Given the description of an element on the screen output the (x, y) to click on. 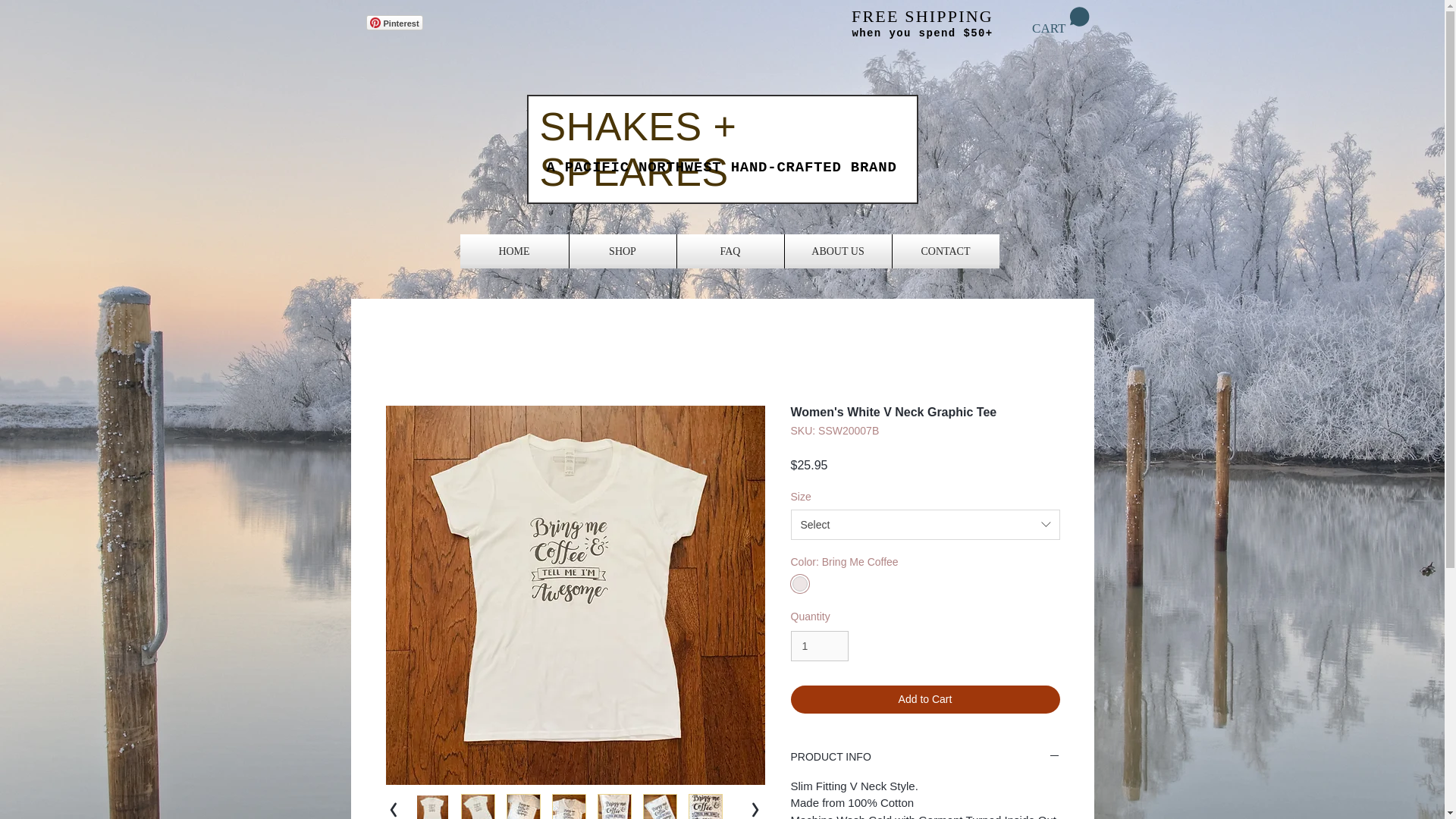
FAQ (730, 251)
Select (924, 524)
ABOUT US (837, 251)
PRODUCT INFO (924, 757)
Pinterest (393, 22)
Add to Cart (924, 699)
CART (1059, 21)
HOME (513, 251)
CONTACT (944, 251)
SHOP (622, 251)
